Given the description of an element on the screen output the (x, y) to click on. 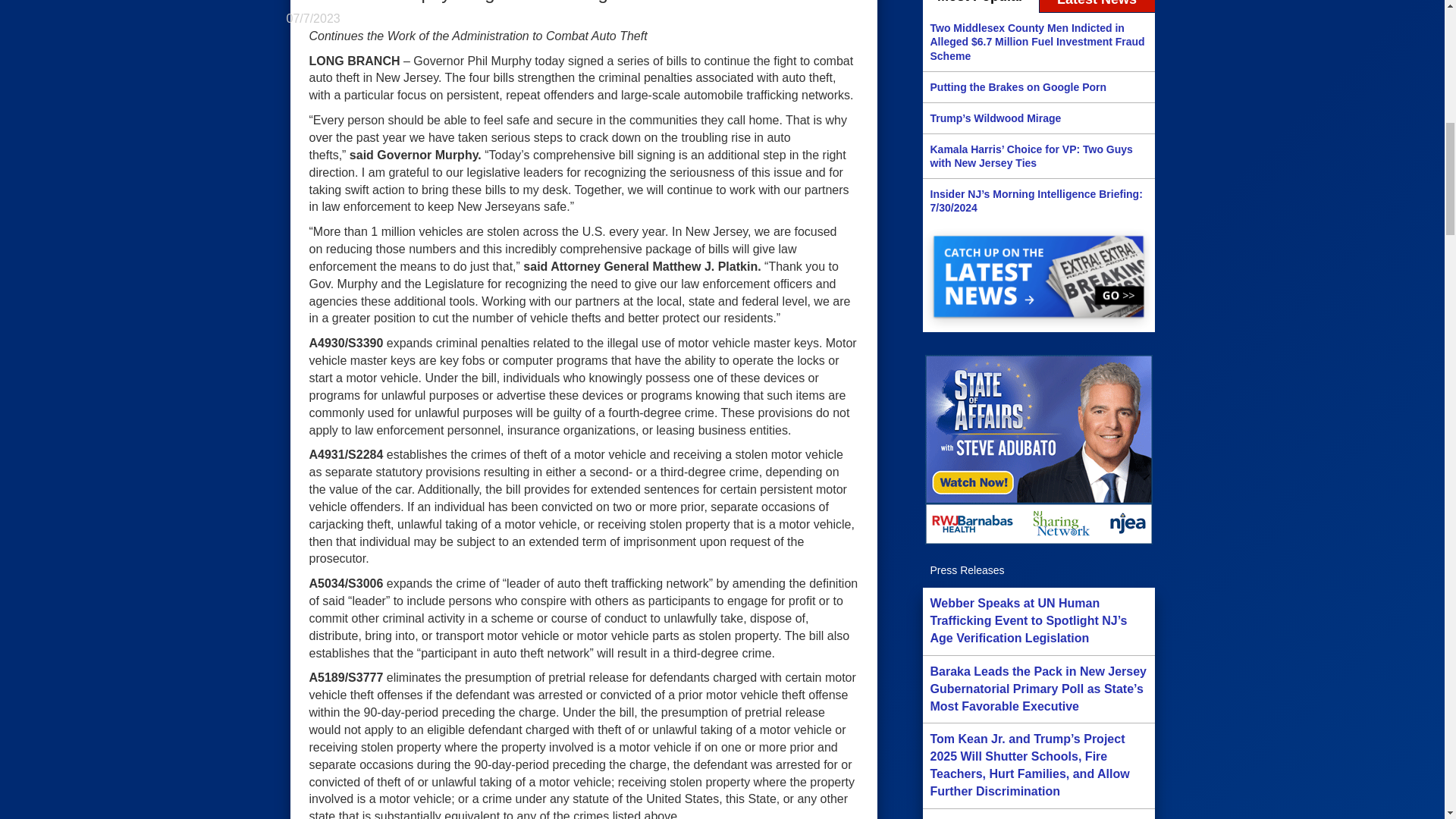
Latest News (1096, 6)
Most Popular (979, 6)
Putting the Brakes on Google Porn (1037, 86)
